Given the description of an element on the screen output the (x, y) to click on. 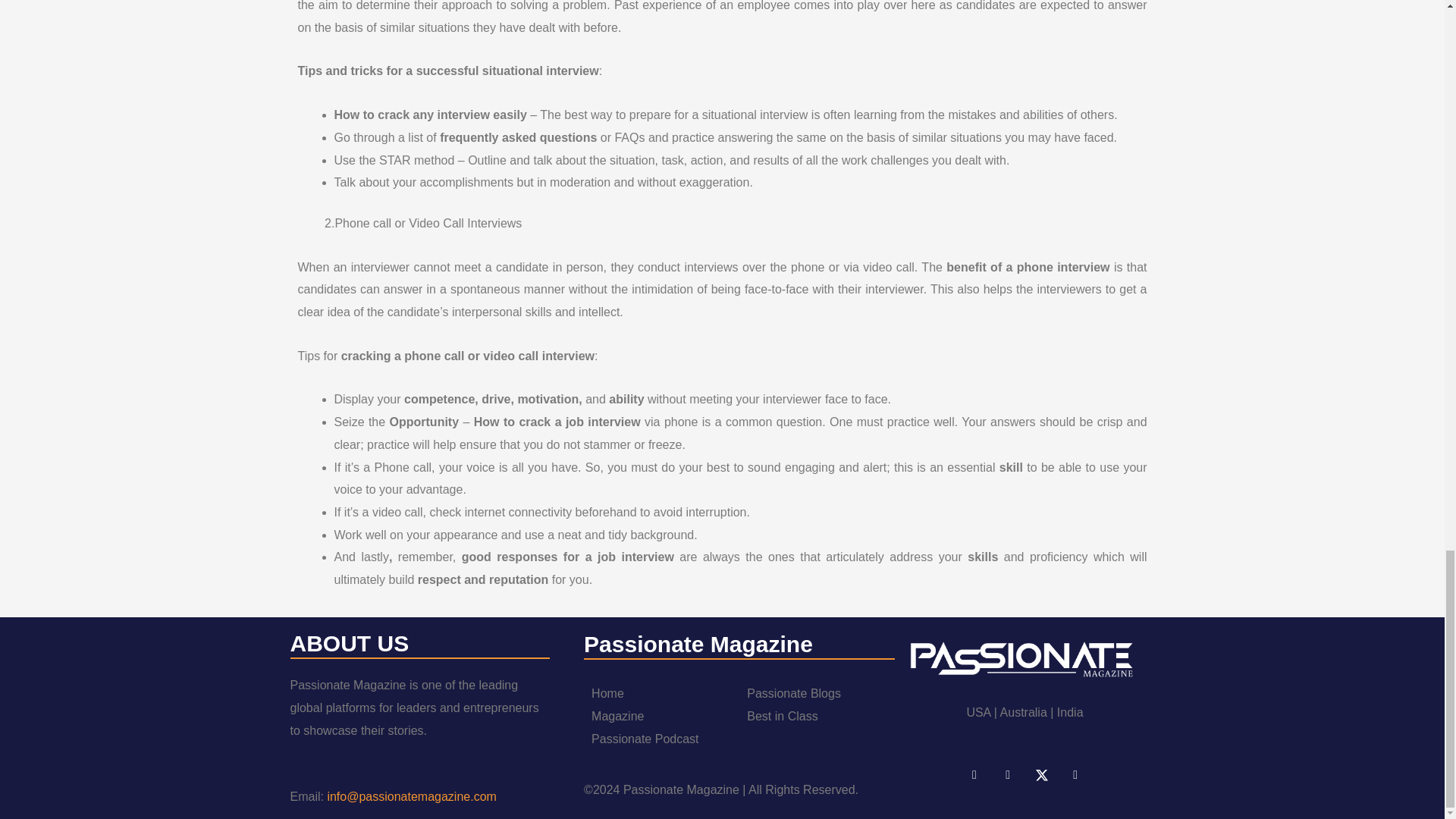
Passionate Blogs (793, 693)
Magazine (617, 716)
Passionate Podcast (644, 738)
Best in Class (781, 716)
Home (607, 693)
